Given the description of an element on the screen output the (x, y) to click on. 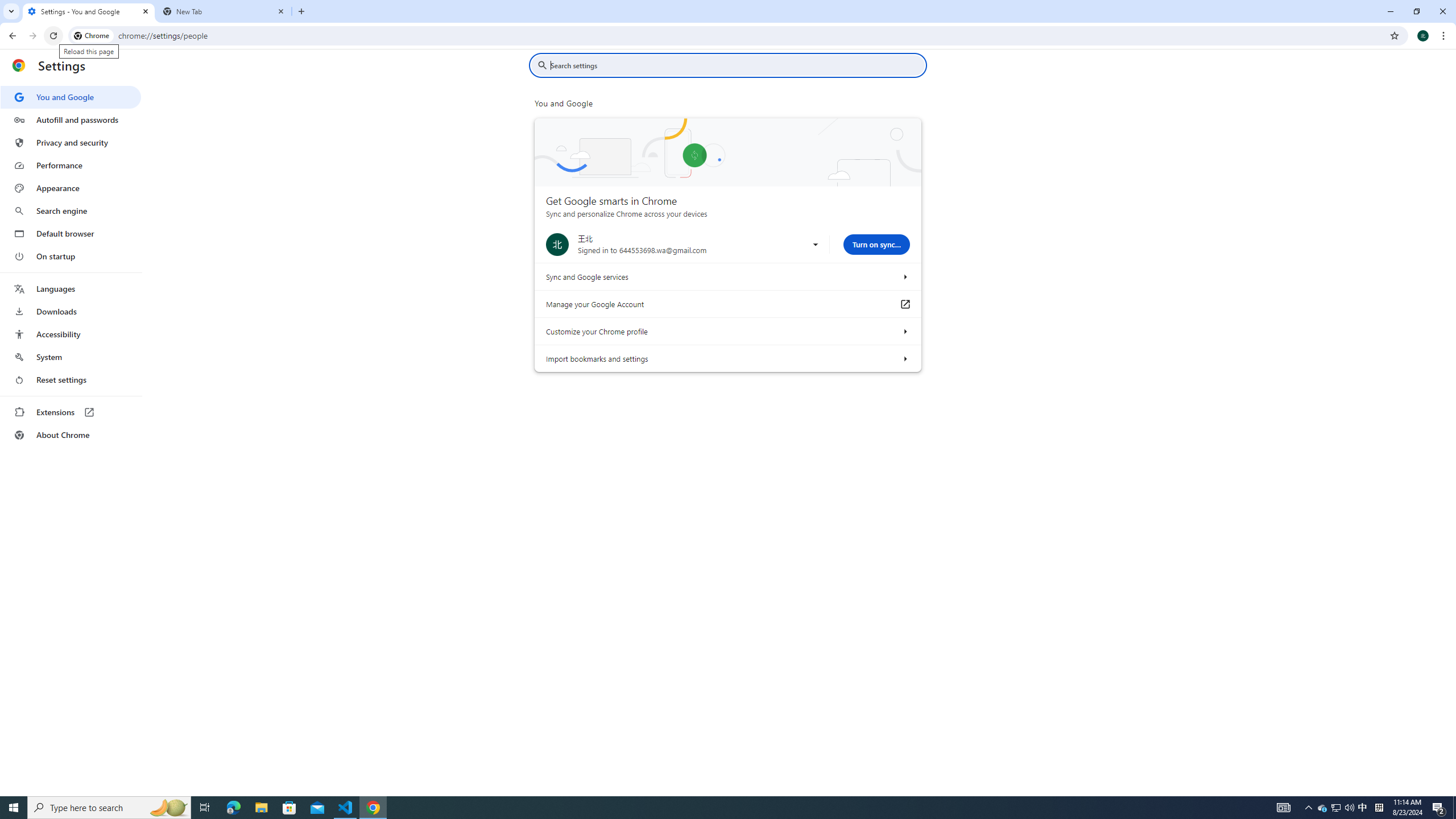
Manage your Google Account (904, 303)
Settings - You and Google (88, 11)
Appearance (70, 187)
Search settings (735, 65)
Sync and Google services (904, 275)
About Chrome (70, 434)
Search engine (70, 210)
Customize your Chrome profile (904, 330)
You and Google (70, 96)
Import bookmarks and settings (904, 357)
Extensions (70, 412)
